Given the description of an element on the screen output the (x, y) to click on. 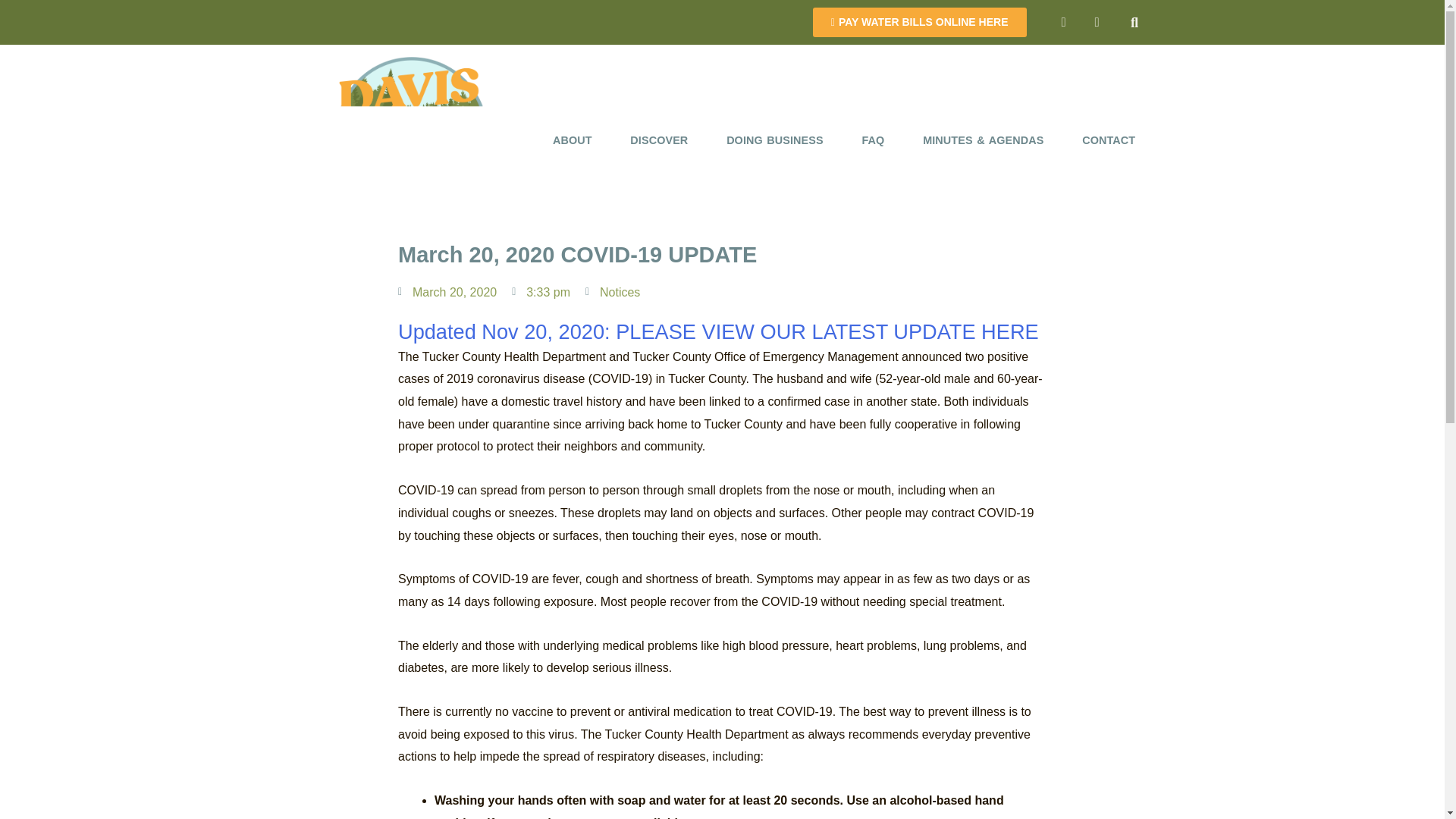
Envelope (1096, 22)
DOING BUSINESS (775, 140)
DISCOVER (659, 140)
Facebook-f (1064, 22)
FAQ (873, 140)
PAY WATER BILLS ONLINE HERE (919, 21)
ABOUT (572, 140)
CONTACT (1108, 140)
